Given the description of an element on the screen output the (x, y) to click on. 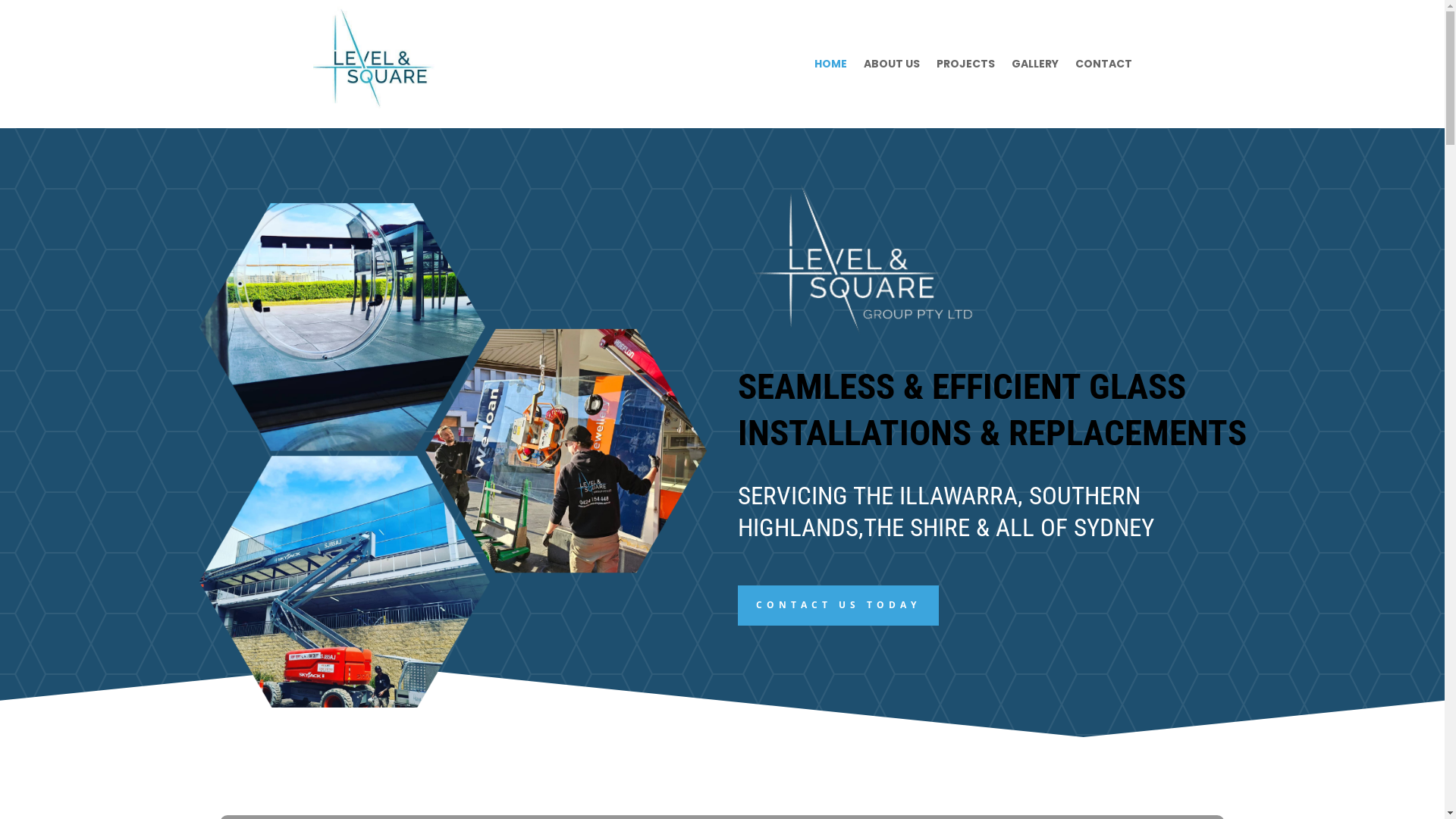
ABOUT US Element type: text (890, 63)
HOME Element type: text (830, 63)
CONTACT US TODAY Element type: text (837, 604)
CONTACT Element type: text (1103, 63)
Untitled design - 2023-10-09T171159.442 Element type: hover (449, 450)
Untitled design - 2023-10-09T142102.121 Element type: hover (889, 257)
GALLERY Element type: text (1034, 63)
PROJECTS Element type: text (964, 63)
